Given the description of an element on the screen output the (x, y) to click on. 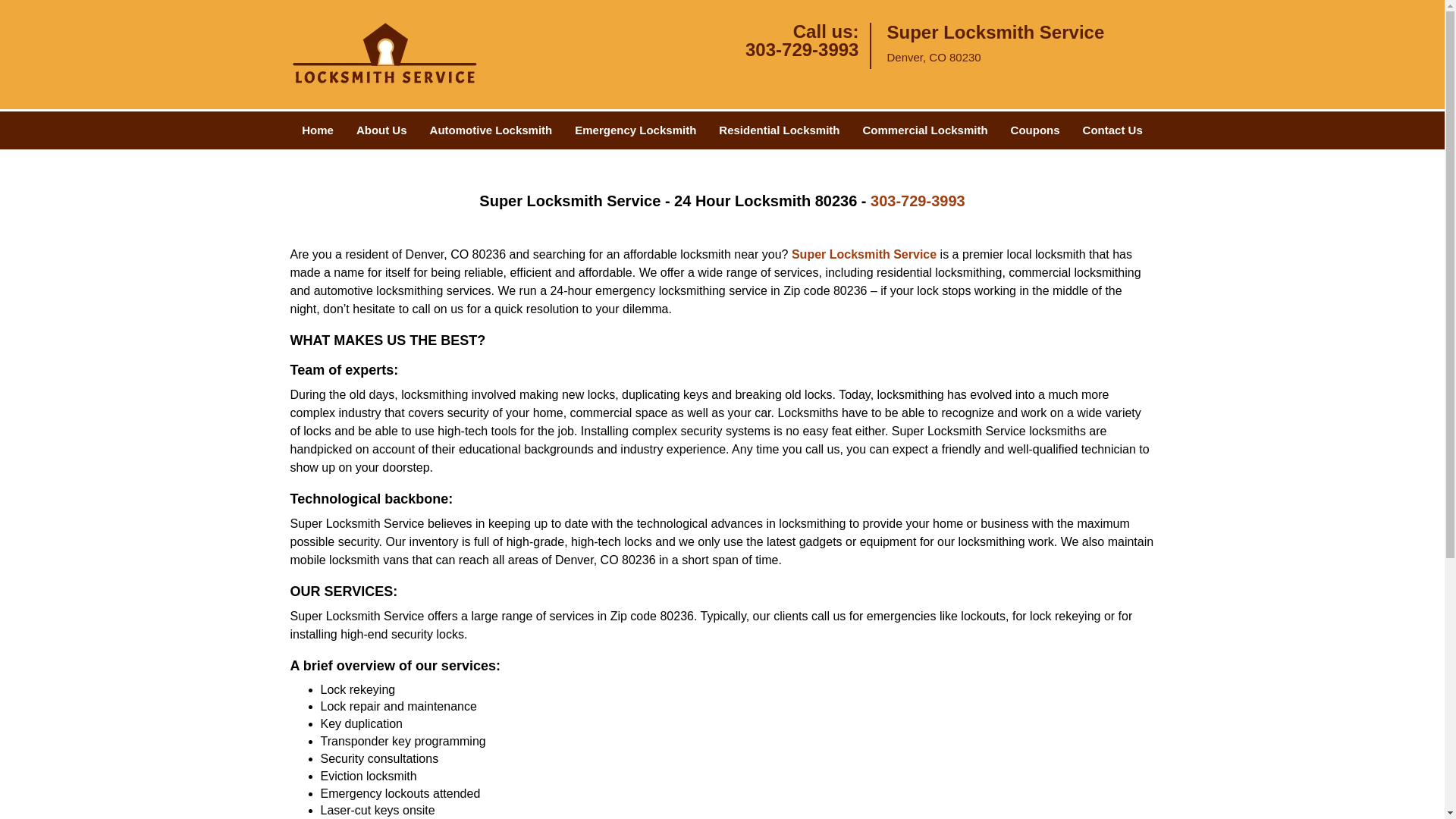
Super Locksmith Service (864, 254)
Home (317, 130)
303-729-3993 (802, 49)
Coupons (1034, 130)
Emergency Locksmith (635, 130)
Contact Us (1112, 130)
303-729-3993 (917, 200)
Commercial Locksmith (924, 130)
Residential Locksmith (778, 130)
About Us (382, 130)
